Given the description of an element on the screen output the (x, y) to click on. 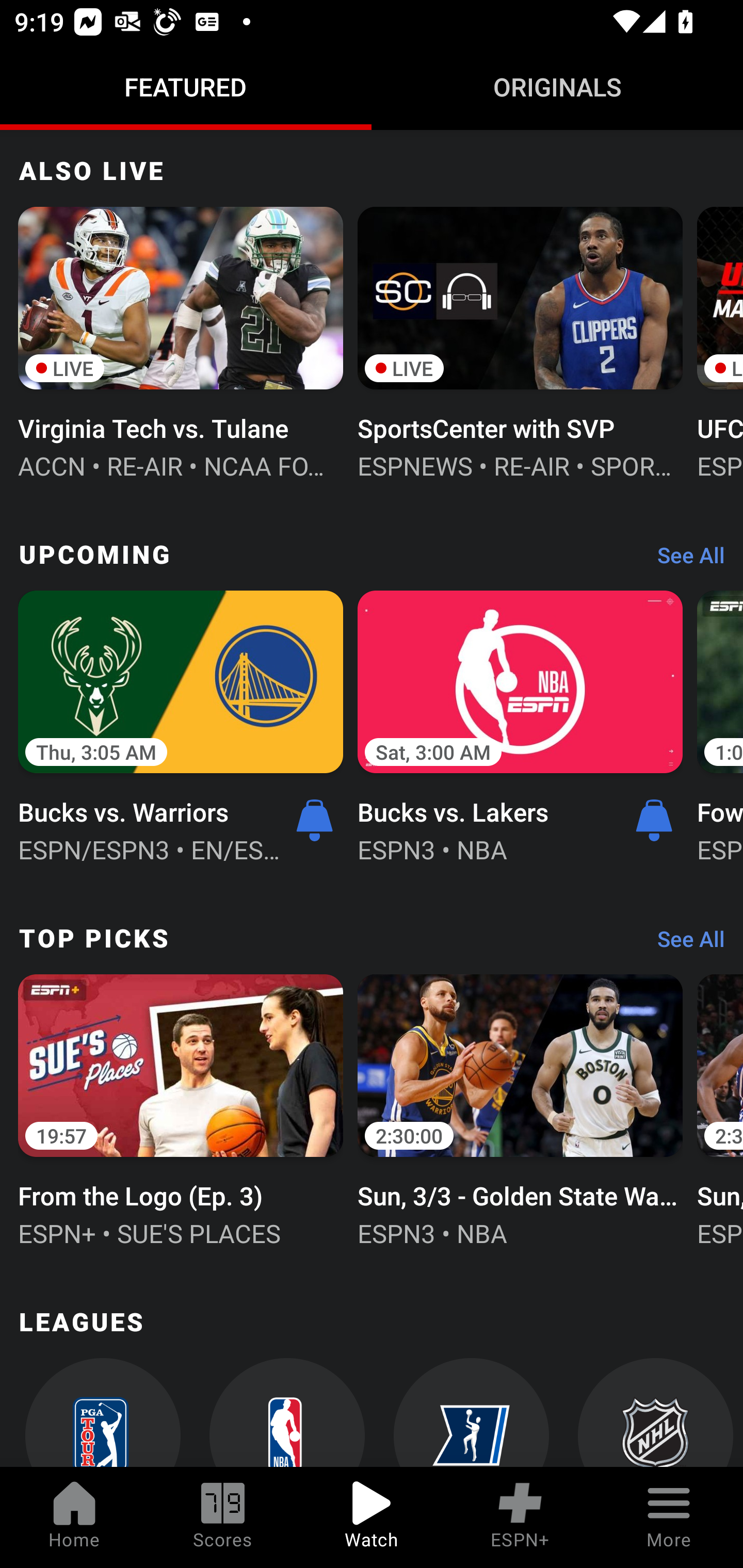
Originals ORIGINALS (557, 86)
See All (683, 559)
See All (683, 943)
19:57 From the Logo (Ep. 3) ESPN+ • SUE'S PLACES (180, 1108)
Home (74, 1517)
Scores (222, 1517)
ESPN+ (519, 1517)
More (668, 1517)
